Given the description of an element on the screen output the (x, y) to click on. 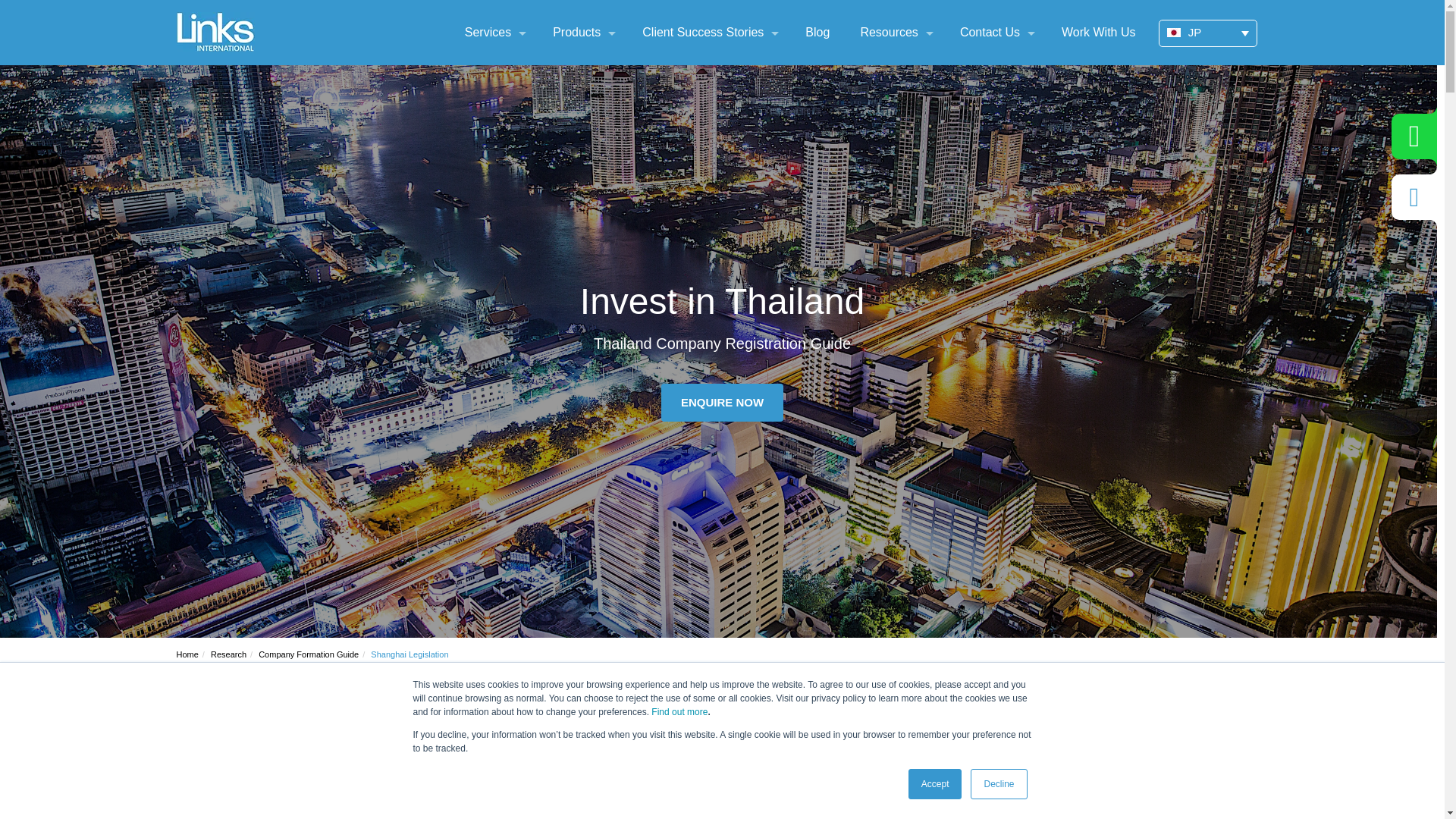
JP (1207, 32)
Decline (998, 784)
Accept (935, 784)
Find out more (678, 711)
Company Formation Guide (308, 654)
 JP (1172, 31)
Research (228, 654)
Services (487, 32)
